Given the description of an element on the screen output the (x, y) to click on. 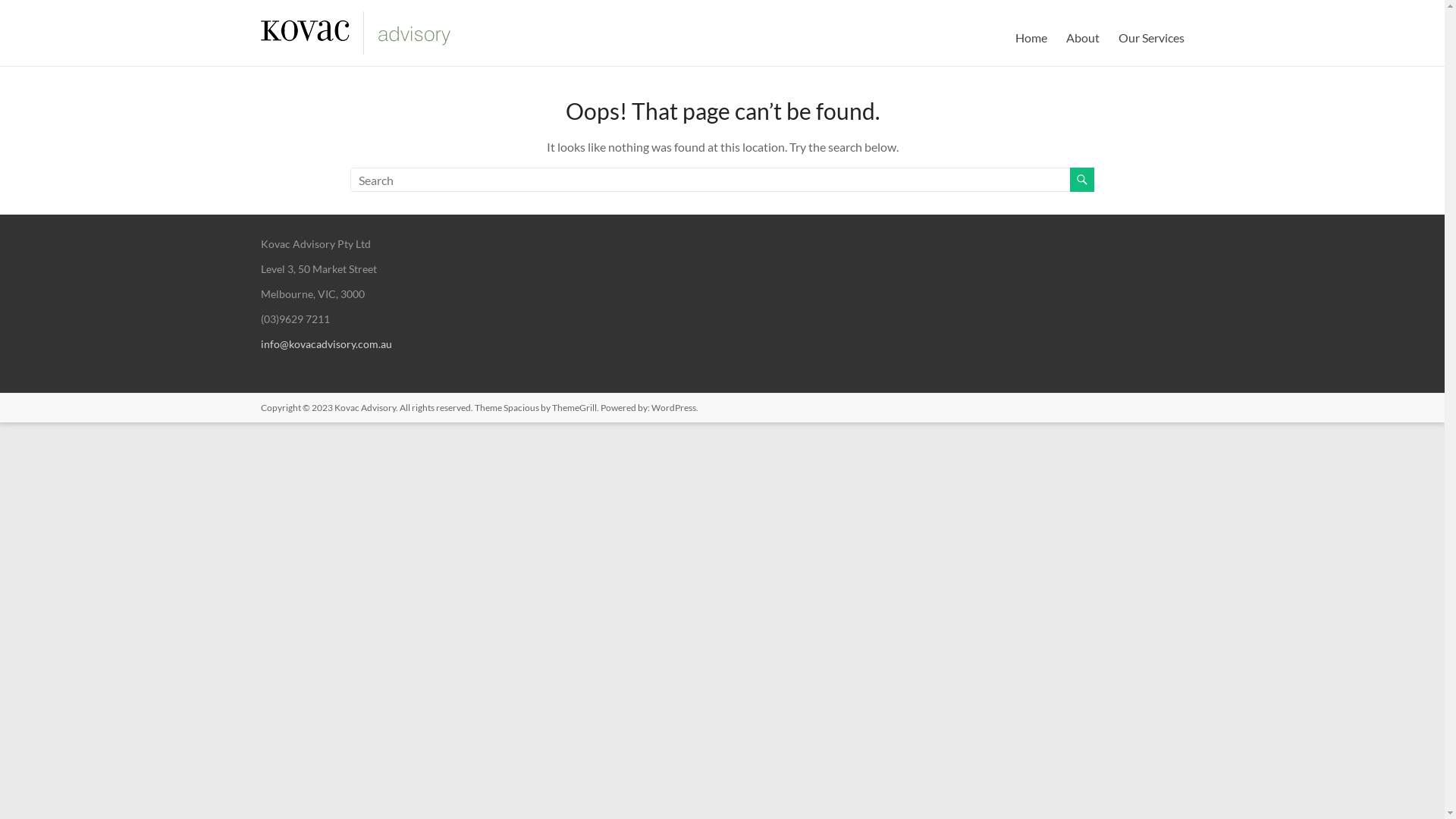
Spacious Element type: text (521, 407)
info@kovacadvisory.com.au Element type: text (326, 343)
About Element type: text (1082, 37)
Home Element type: text (1030, 37)
Kovac Advisory Element type: text (312, 46)
Our Services Element type: text (1150, 37)
WordPress Element type: text (672, 407)
Kovac Advisory Element type: text (364, 407)
